Given the description of an element on the screen output the (x, y) to click on. 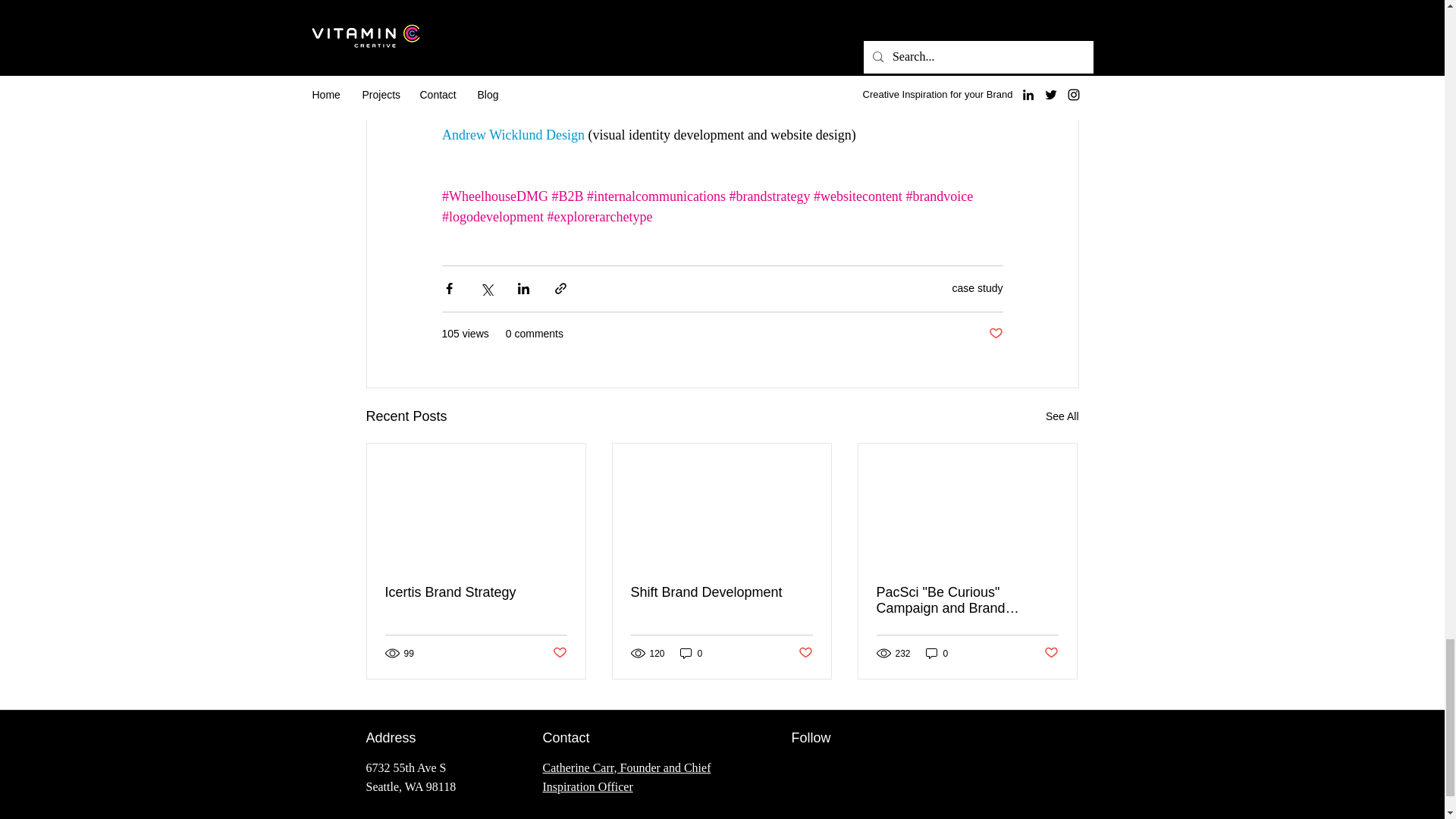
case study (977, 287)
See All (1061, 416)
Post not marked as liked (995, 333)
Andrew Wicklund Design (512, 134)
